Given the description of an element on the screen output the (x, y) to click on. 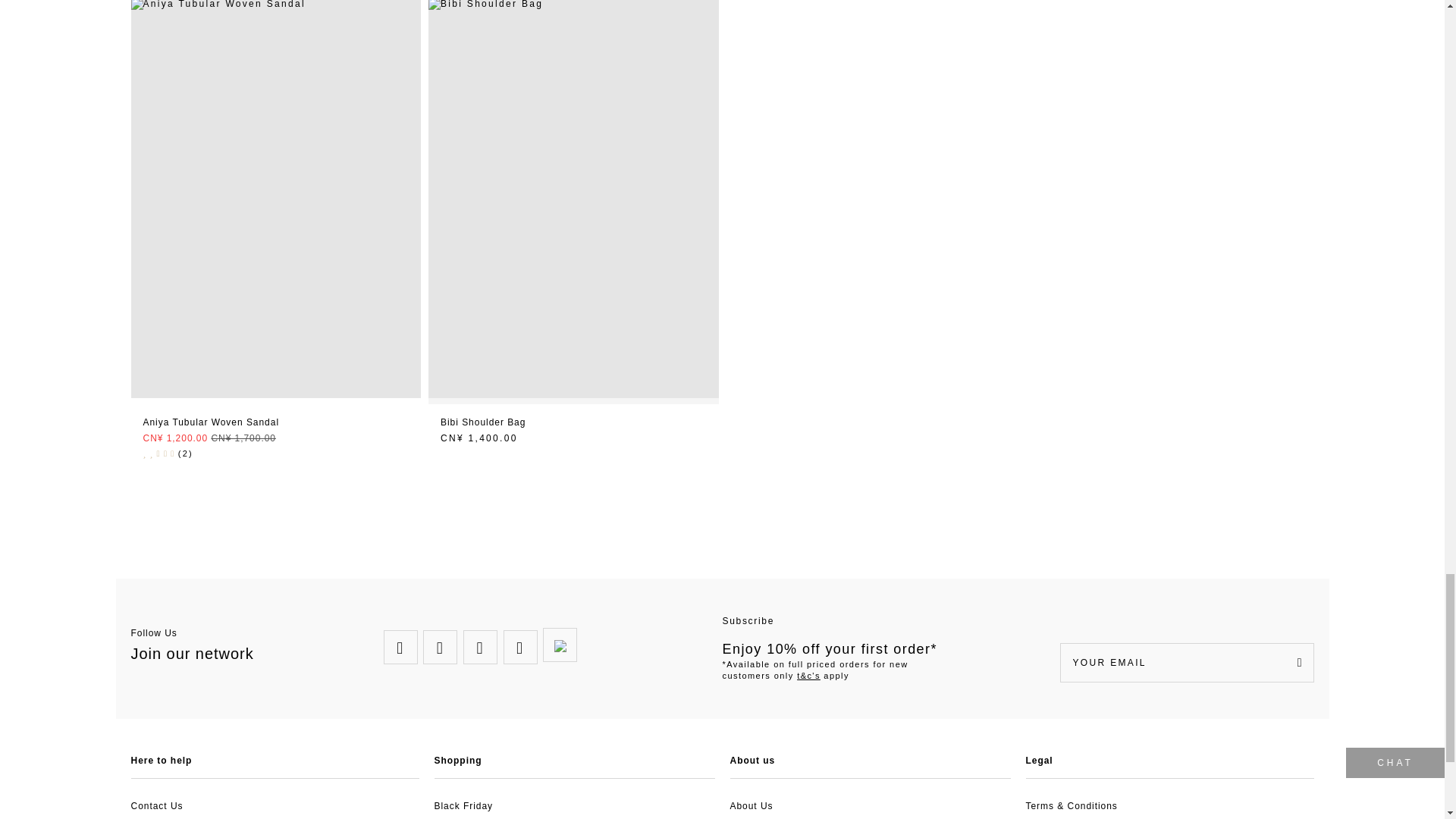
Aniya Tubular Woven Sandal (275, 5)
Bibi Shoulder Bag (573, 5)
Add to Bag (573, 423)
Add to Bag (275, 423)
